Given the description of an element on the screen output the (x, y) to click on. 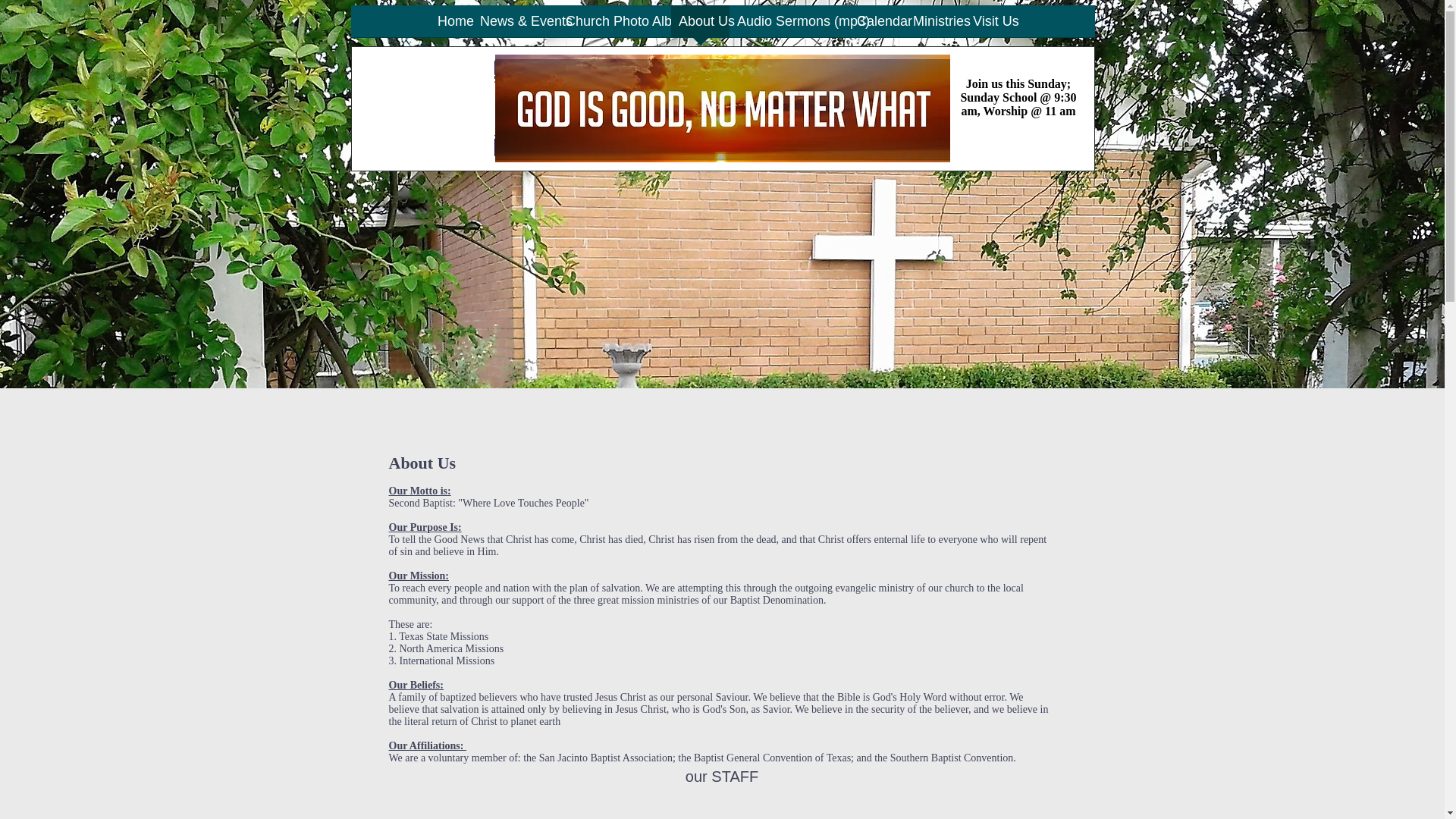
Home (450, 25)
About Us (700, 25)
Visit Us (989, 25)
Calendar (876, 25)
Church Photo Album (614, 25)
